Given the description of an element on the screen output the (x, y) to click on. 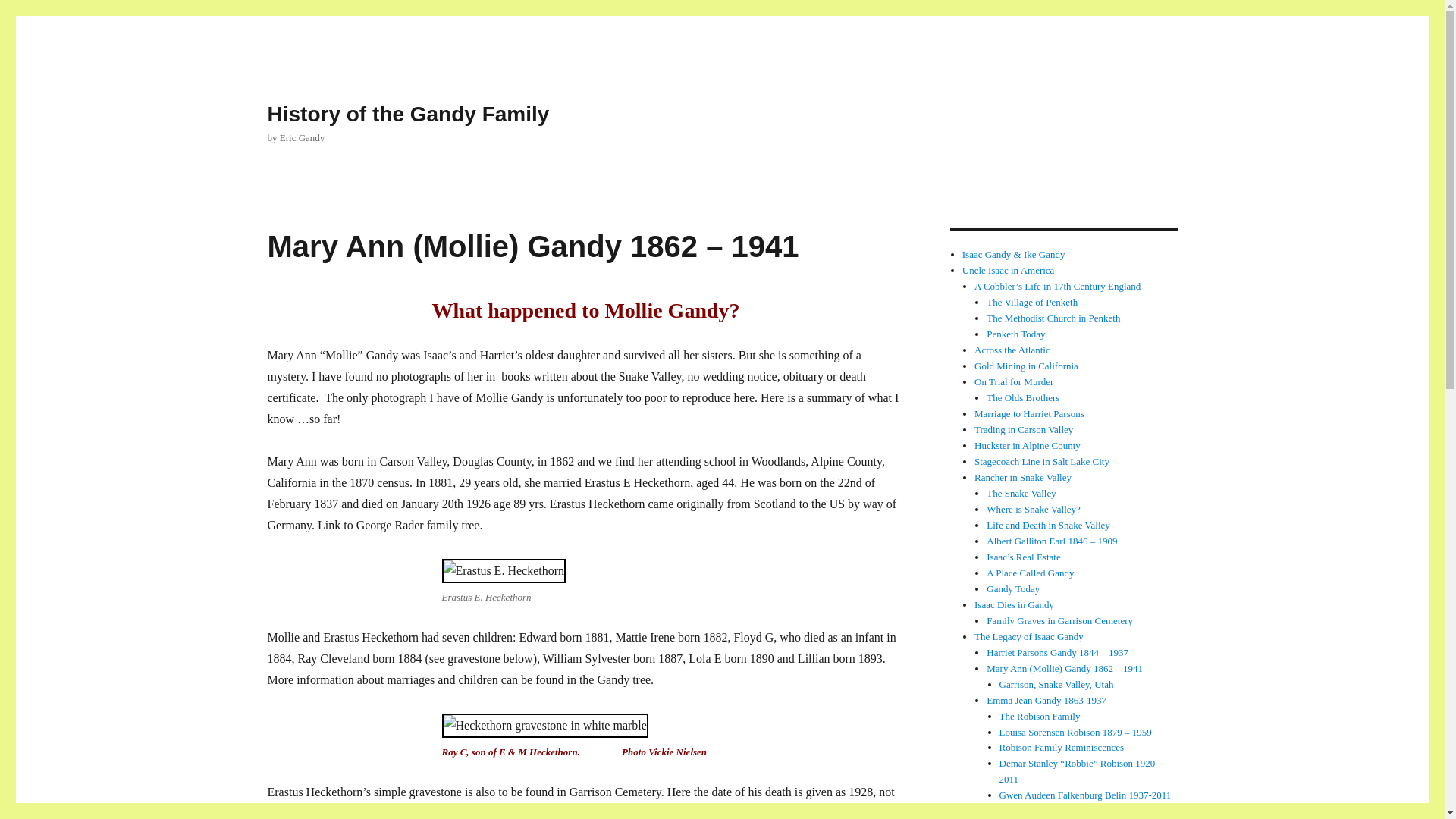
The Legacy of Isaac Gandy (1028, 636)
Huckster in Alpine County (1027, 445)
Penketh Today (1016, 333)
Where is Snake Valley? (1033, 509)
Across the Atlantic (1011, 349)
Stagecoach Line in Salt Lake City (1041, 460)
Rancher in Snake Valley (1022, 477)
The Village of Penketh (1032, 301)
Gold Mining in California (1026, 365)
The Robison Family (1039, 715)
Trading in Carson Valley (1023, 429)
The Methodist Church in Penketh (1053, 317)
Life and Death in Snake Valley (1048, 524)
Marriage to Harriet Parsons (1029, 413)
History of the Gandy Family (407, 114)
